Given the description of an element on the screen output the (x, y) to click on. 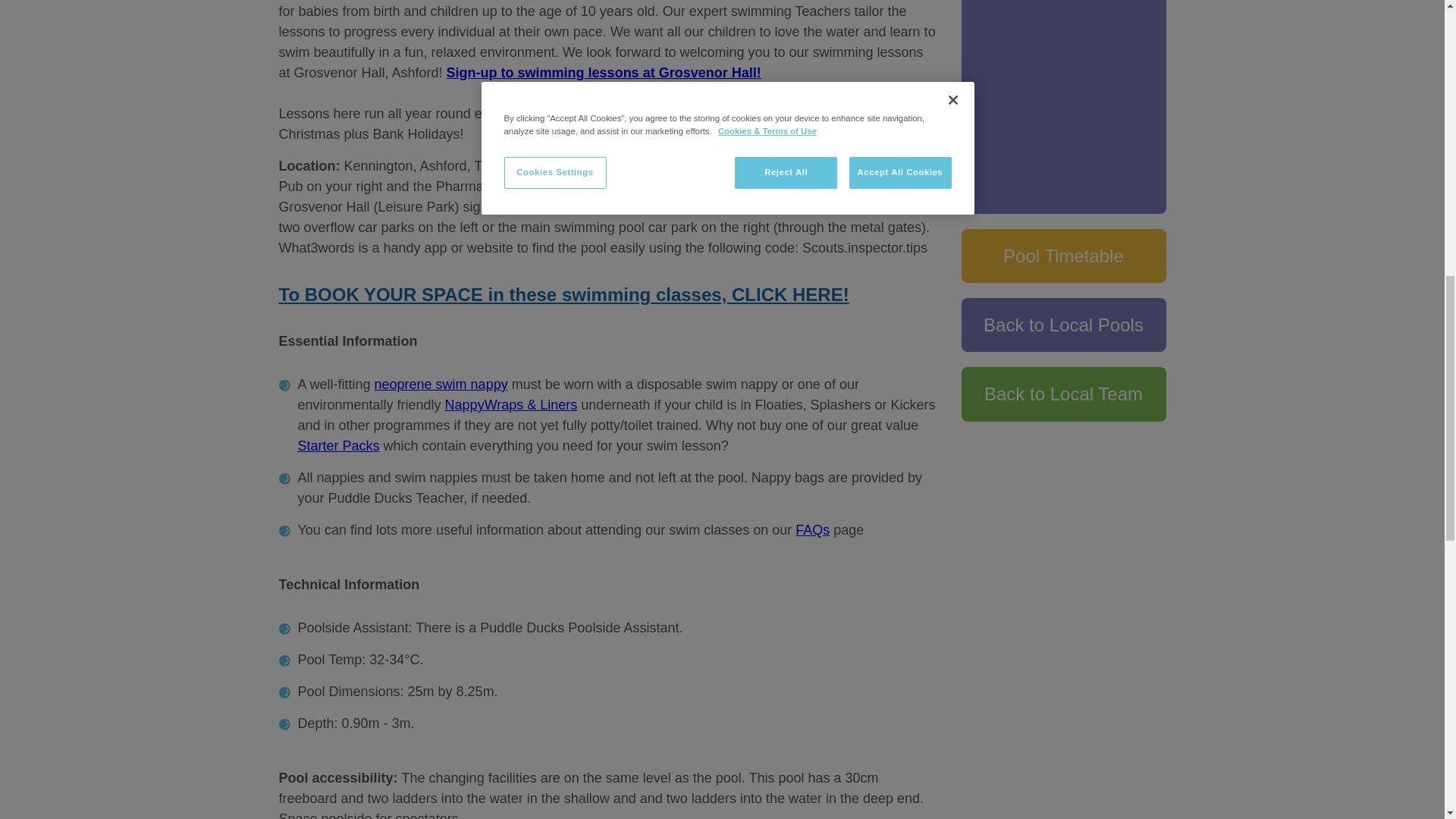
Grosvenor Hall ASHFORD timetable (1063, 255)
